Given the description of an element on the screen output the (x, y) to click on. 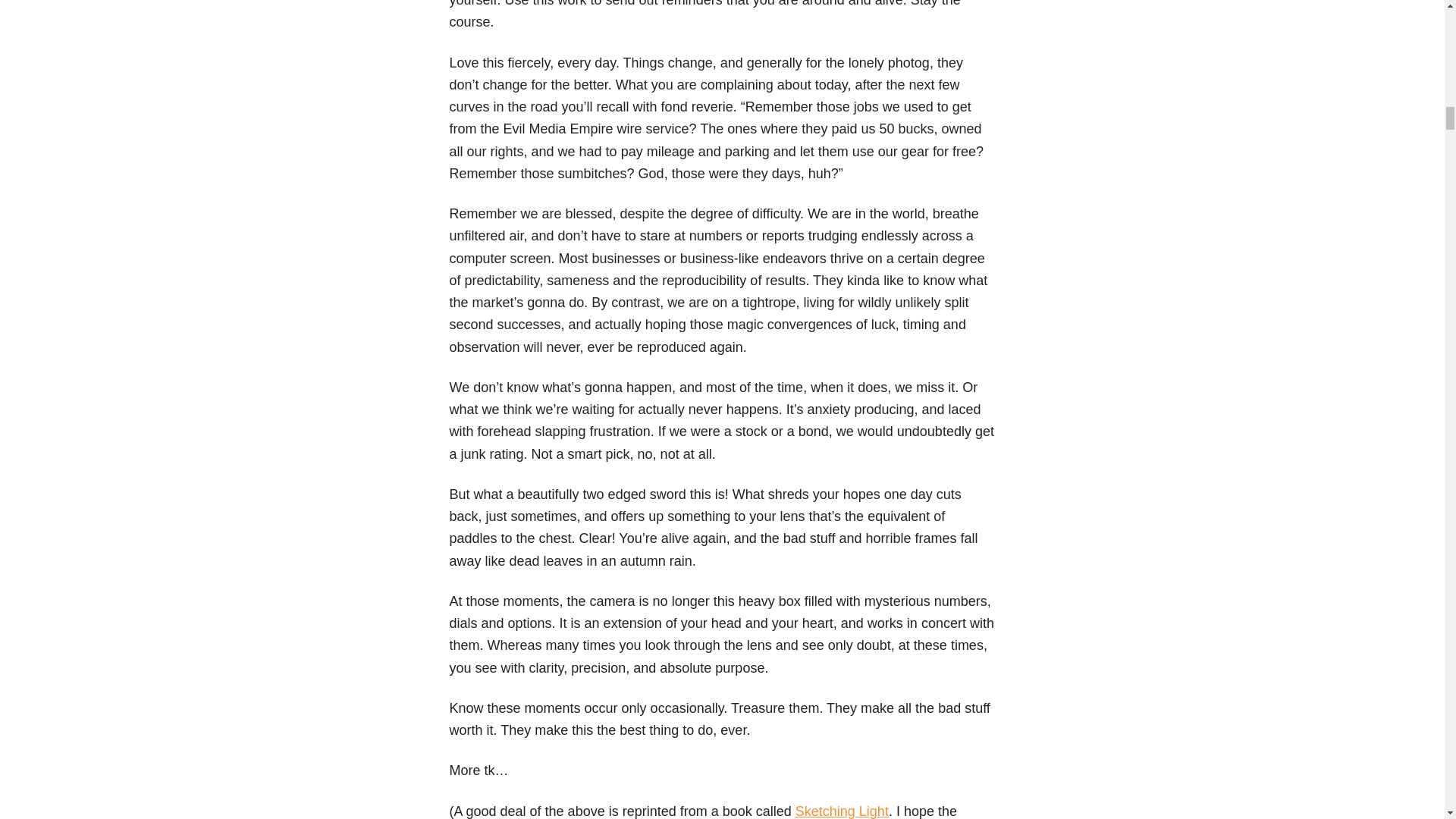
Sketching Light (841, 811)
